Given the description of an element on the screen output the (x, y) to click on. 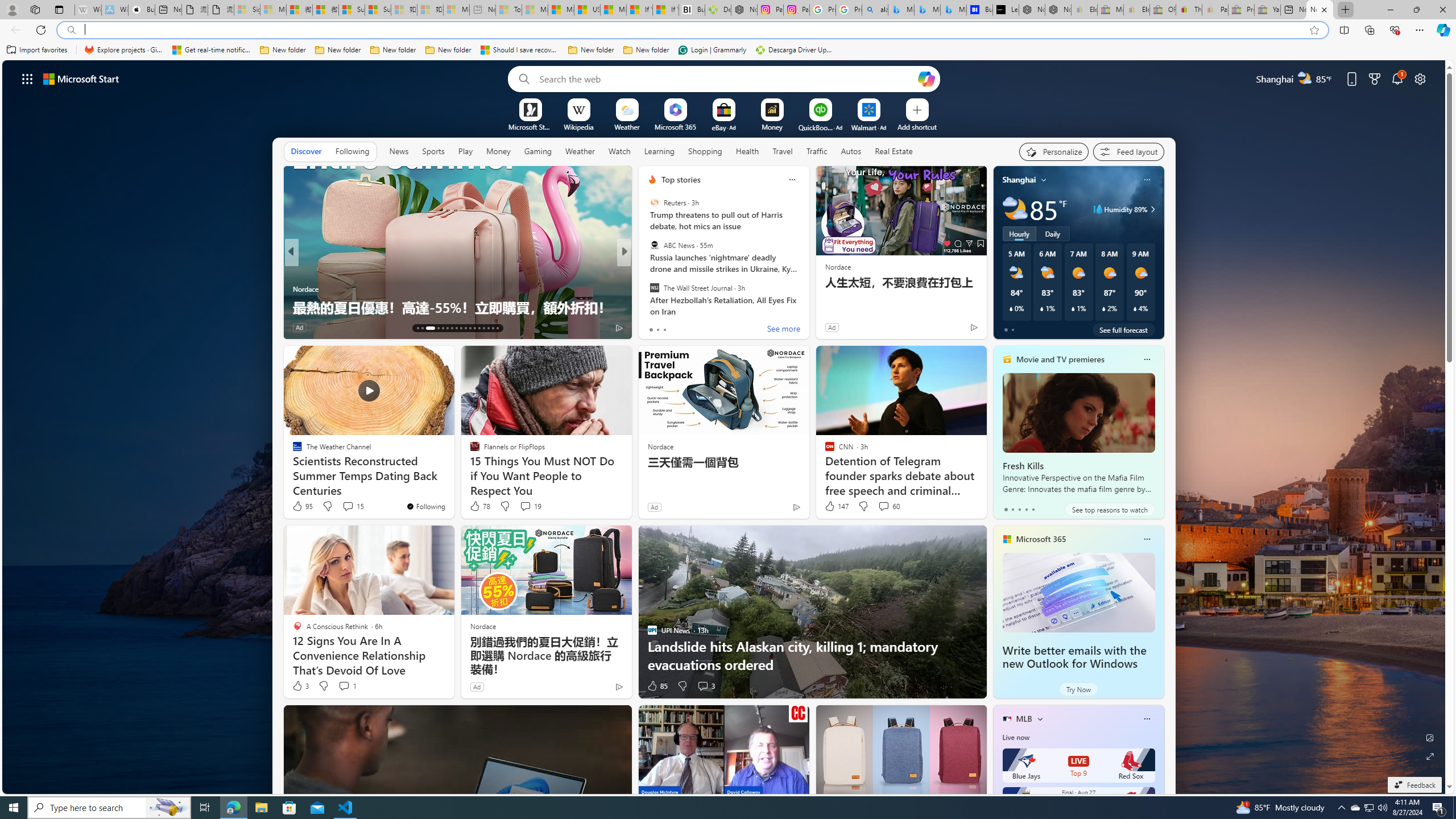
More interests (1039, 718)
View comments 1 Comment (343, 685)
Deaths related to heat waves are on the rise in U.S. (807, 307)
ABC News (654, 245)
Descarga Driver Updater (794, 49)
The Verge (647, 288)
Reuters (654, 202)
Class: control (27, 78)
Descarga Driver Updater (717, 9)
Personalize your feed" (1054, 151)
